Given the description of an element on the screen output the (x, y) to click on. 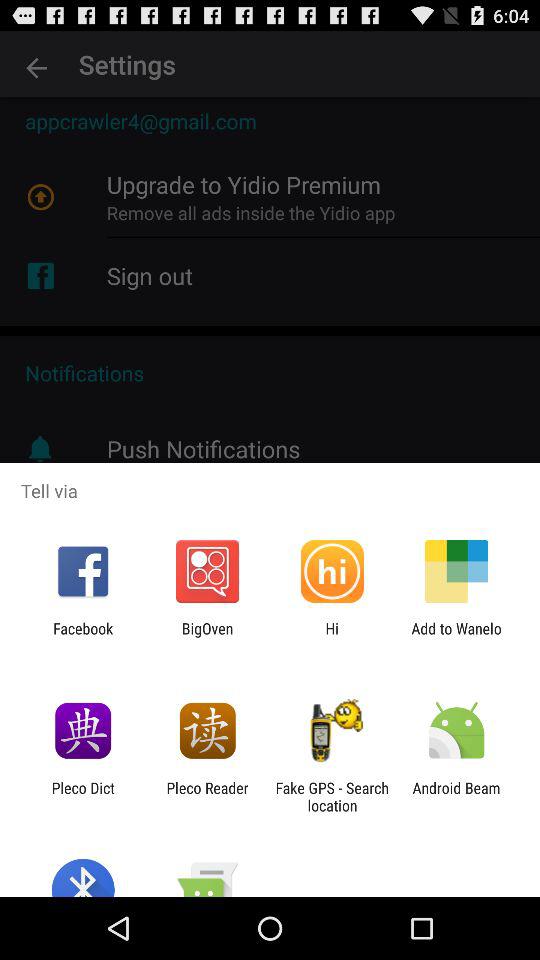
press app next to android beam item (332, 796)
